Given the description of an element on the screen output the (x, y) to click on. 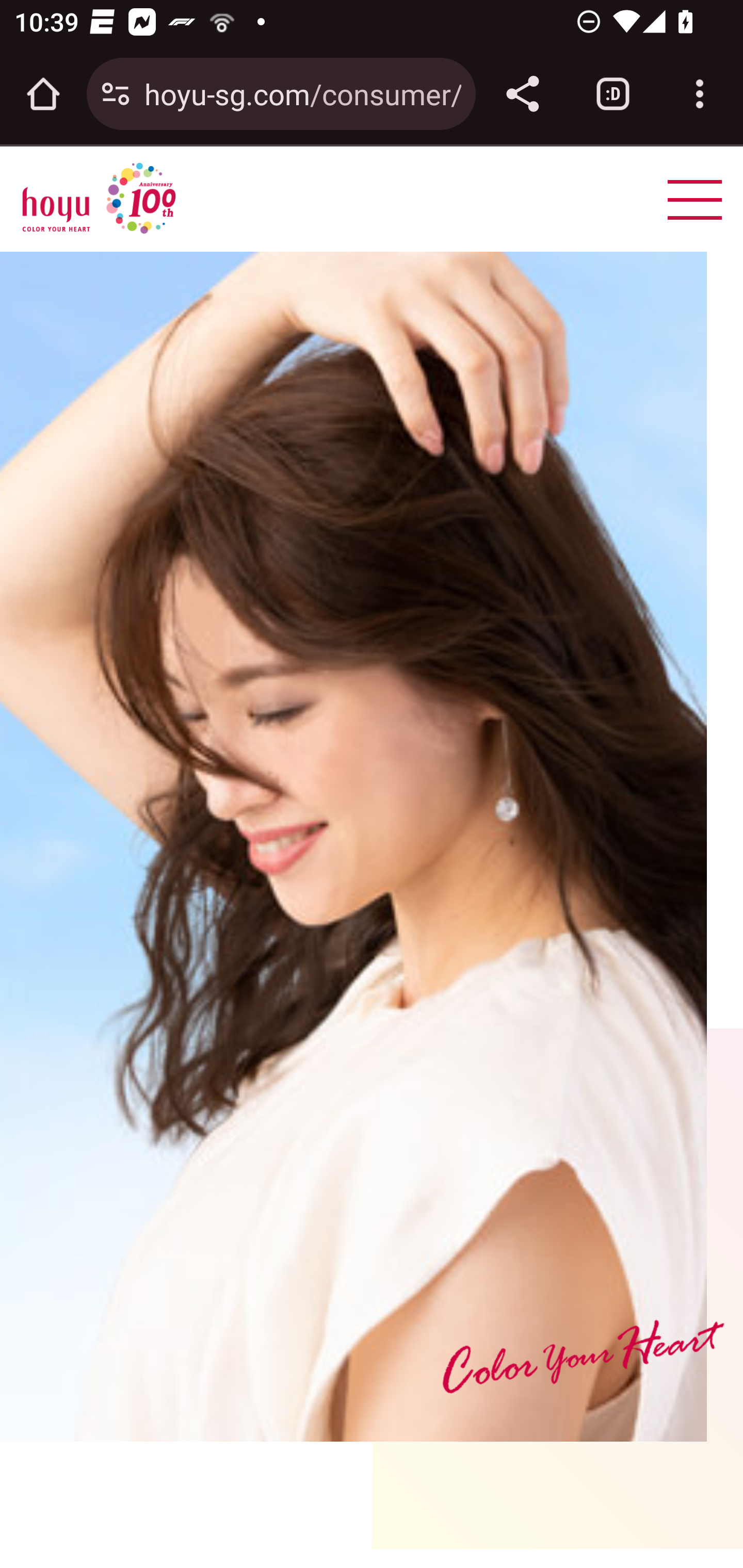
Open the home page (43, 93)
Connection is secure (115, 93)
Share (522, 93)
Switch or close tabs (612, 93)
Customize and control Google Chrome (699, 93)
hoyu-sg.com/consumer/index (302, 92)
hoyu Singapore (98, 199)
